Given the description of an element on the screen output the (x, y) to click on. 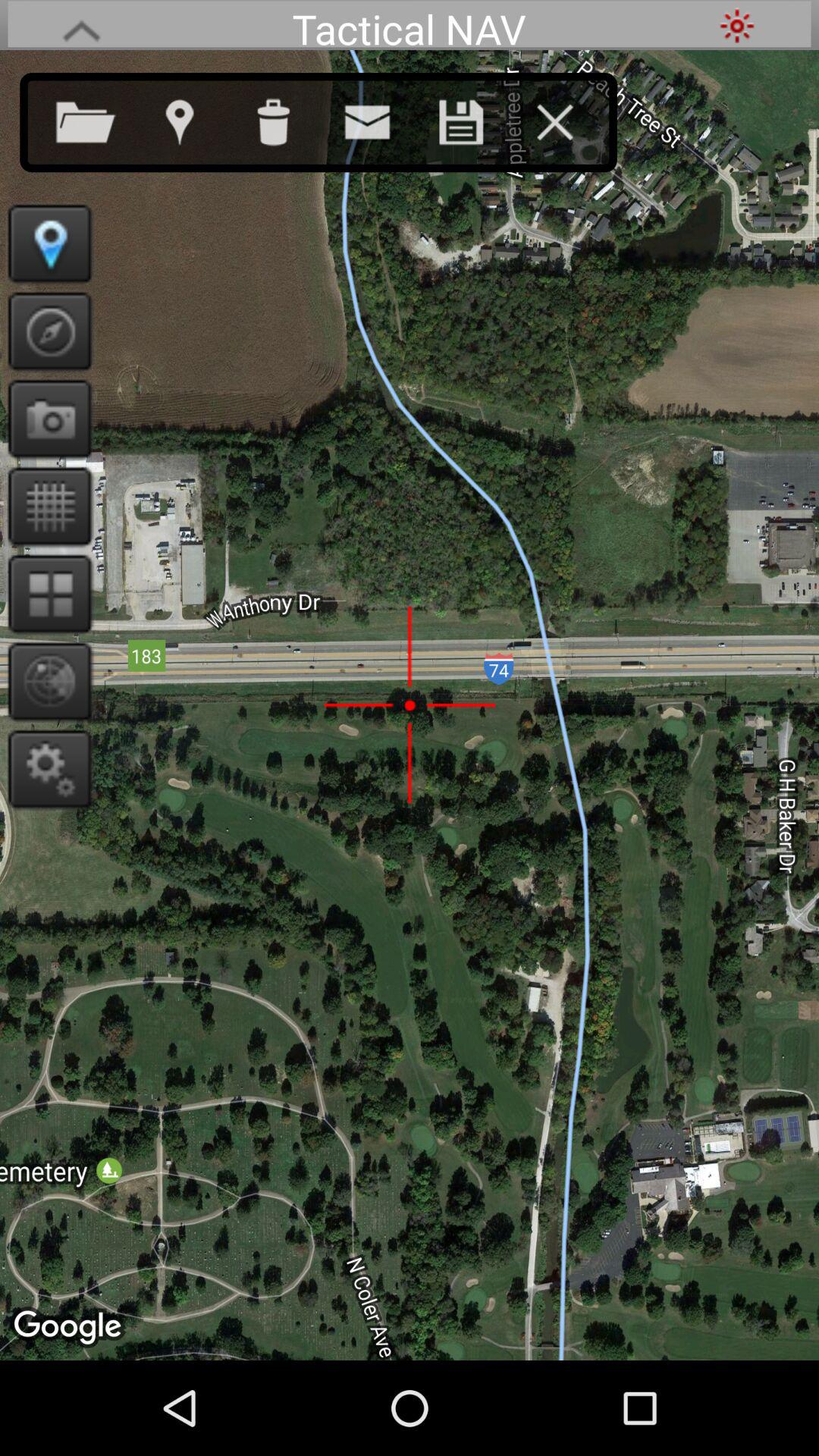
open radar (45, 681)
